Given the description of an element on the screen output the (x, y) to click on. 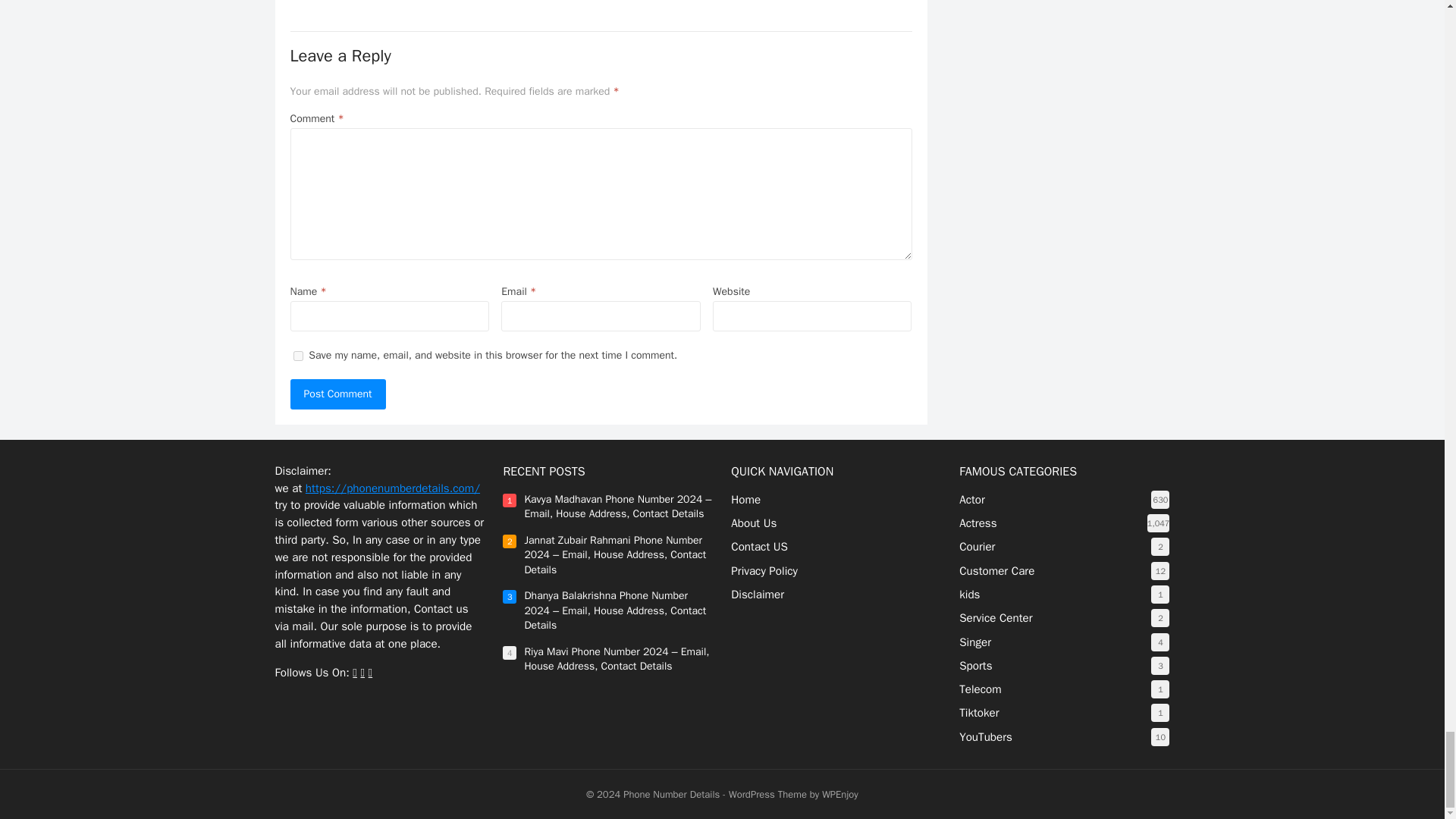
Post Comment (337, 394)
yes (297, 356)
